Given the description of an element on the screen output the (x, y) to click on. 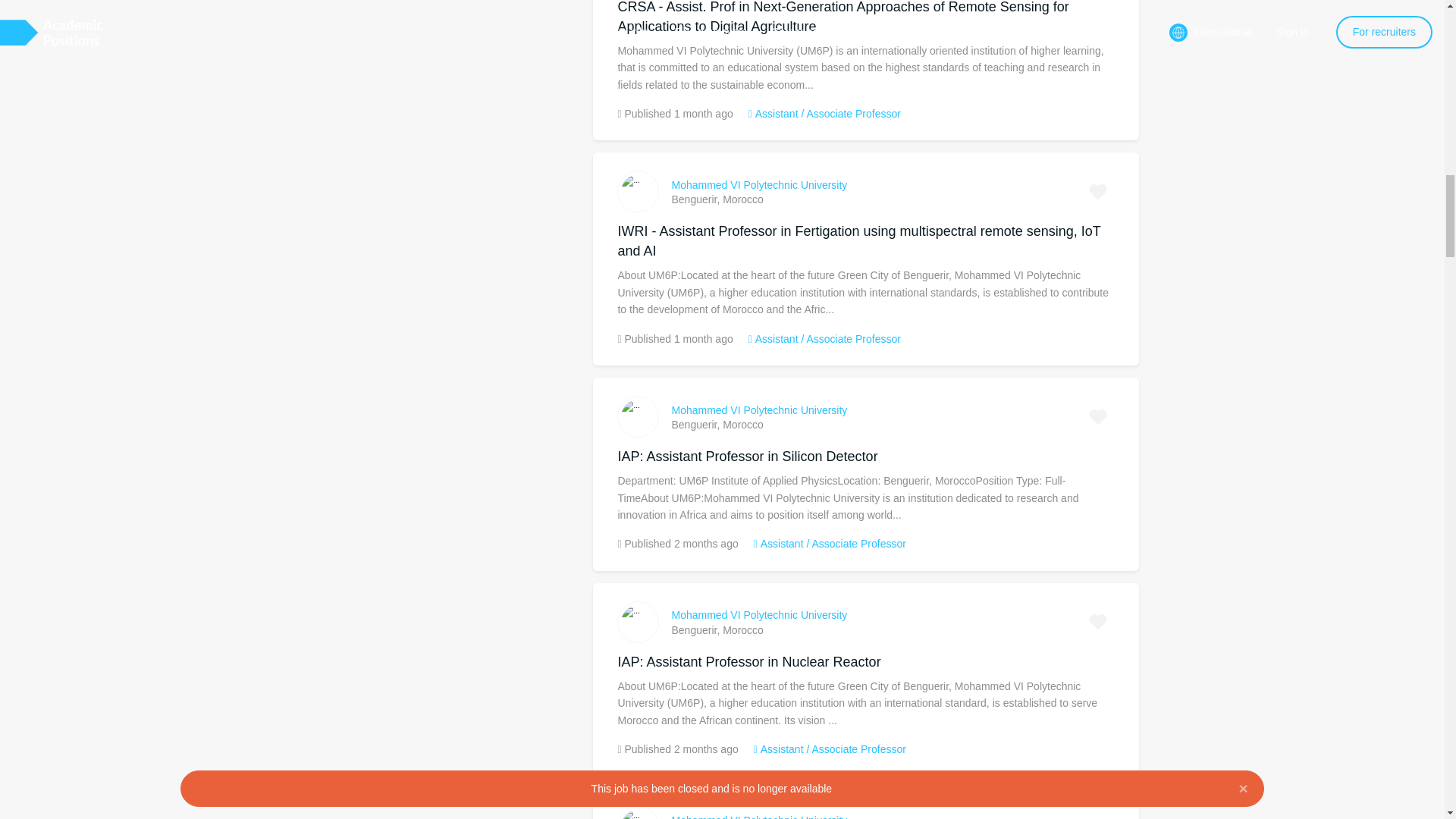
Please login to favorite the job. (1098, 814)
Please login to favorite the job. (1098, 621)
Please login to favorite the job. (1098, 417)
Please login to favorite the job. (1098, 191)
